Given the description of an element on the screen output the (x, y) to click on. 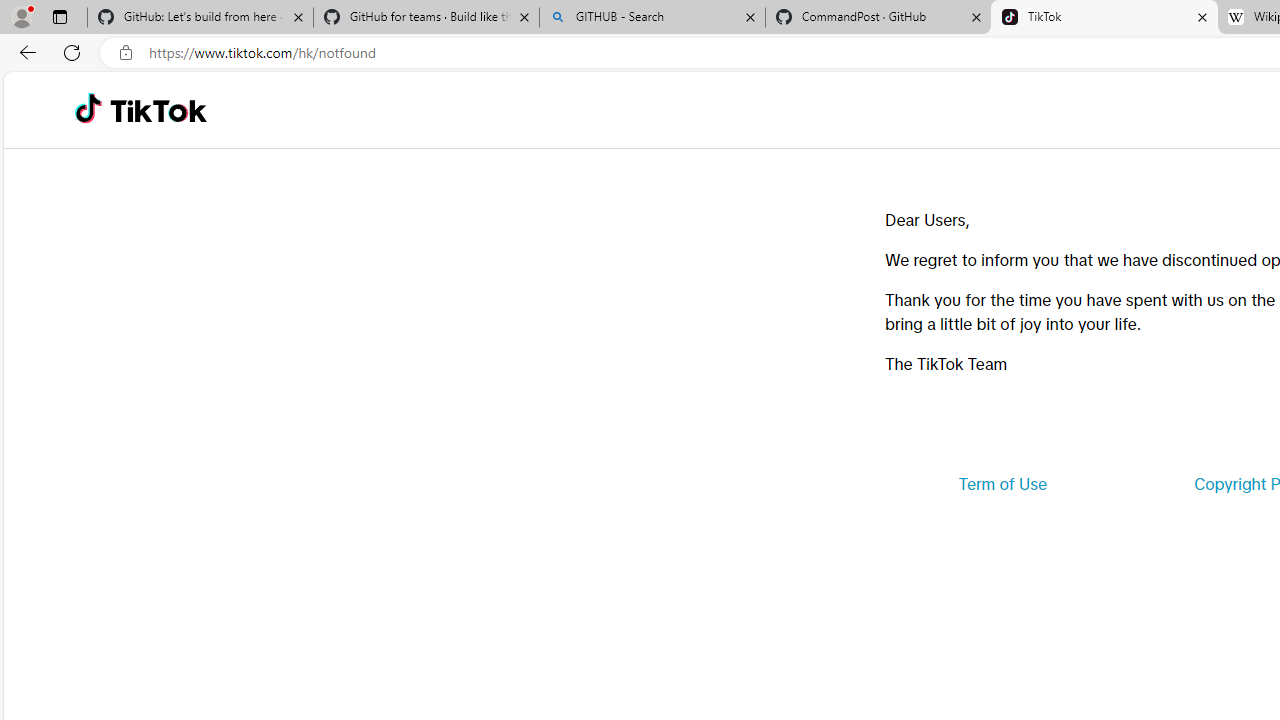
TikTok (158, 110)
TikTok (1104, 17)
Term of Use (1002, 484)
GITHUB - Search (652, 17)
